Given the description of an element on the screen output the (x, y) to click on. 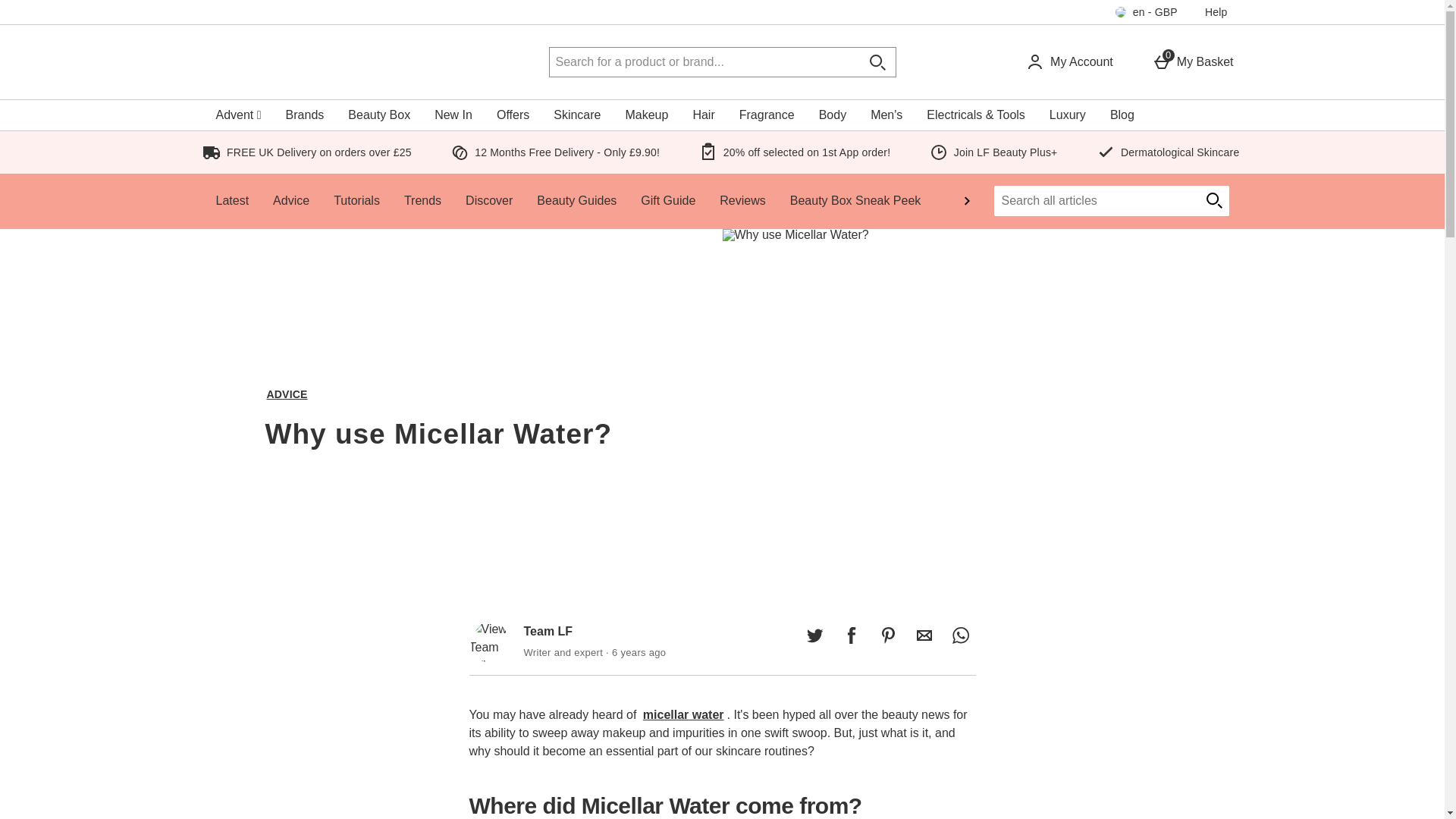
Brands (304, 114)
Skip to main content (55, 9)
Search Articles (1095, 200)
Share this by Email (1192, 62)
Search for a product or brand... (923, 634)
Share this on Pinterest (703, 61)
Share this on Facebook (887, 634)
Share this on Twitter (850, 634)
My Account (814, 634)
